Given the description of an element on the screen output the (x, y) to click on. 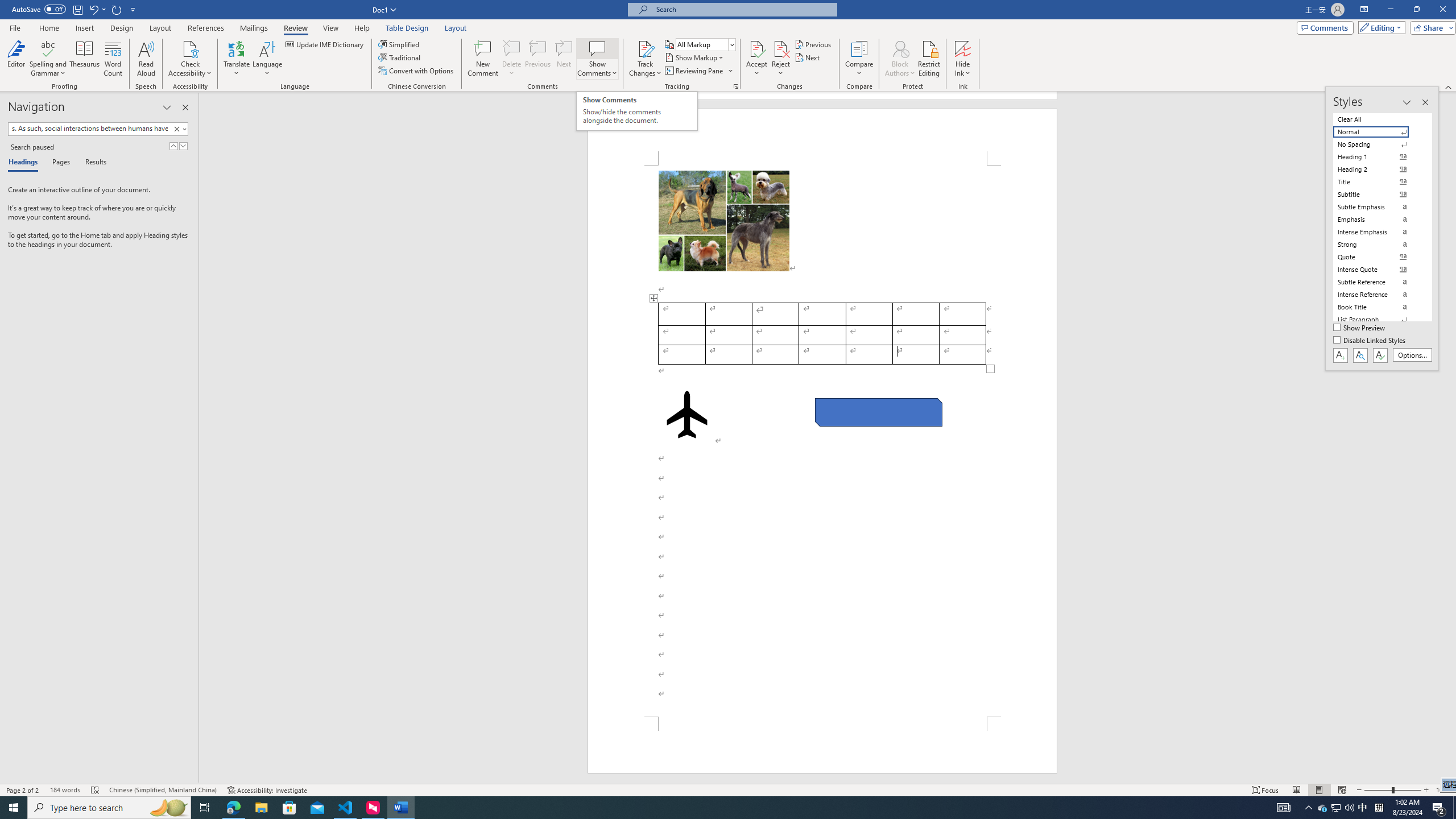
Table Design (407, 28)
Hide Ink (962, 48)
Airplane with solid fill (686, 414)
Options... (1412, 354)
Previous (813, 44)
Reject (780, 58)
Book Title (1377, 306)
Strong (1377, 244)
Disable Linked Styles (1370, 340)
Spelling and Grammar Check Errors (94, 790)
Editor (16, 58)
Intense Quote (1377, 269)
